Given the description of an element on the screen output the (x, y) to click on. 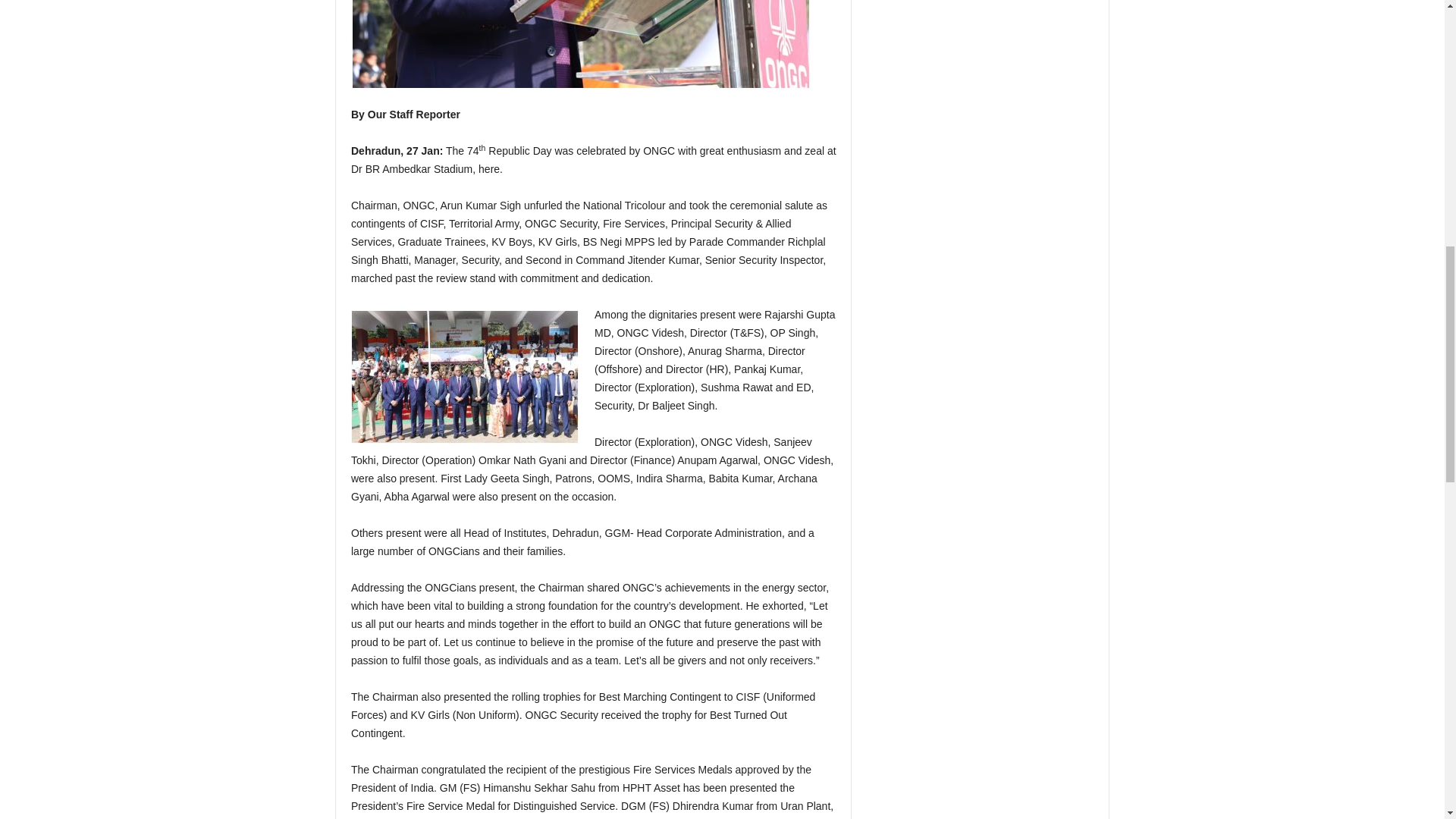
RD ONGC (580, 44)
